Given the description of an element on the screen output the (x, y) to click on. 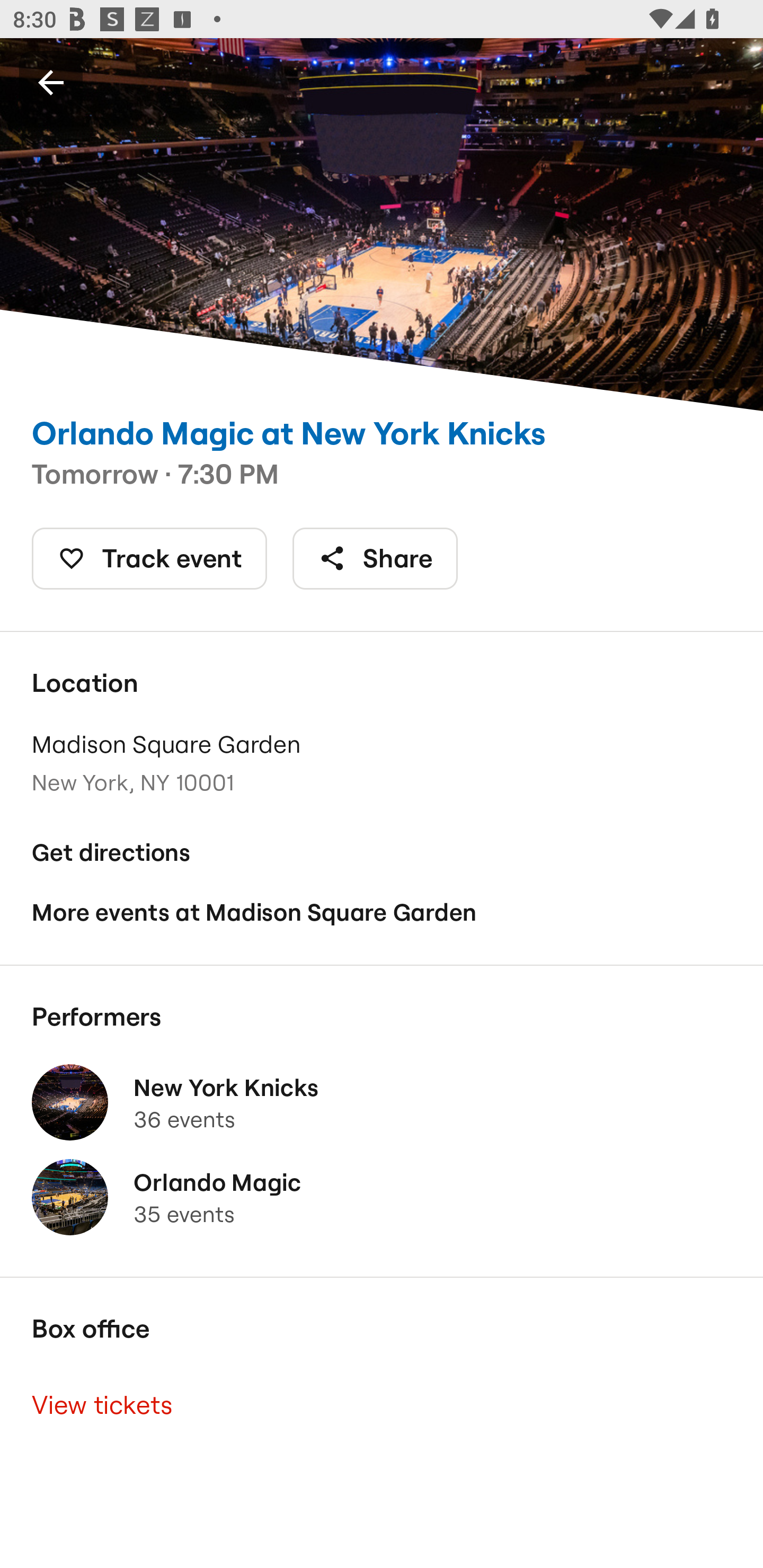
Back (50, 81)
Track event (149, 557)
Share (374, 557)
Get directions (381, 852)
More events at Madison Square Garden (381, 912)
New York Knicks 36 events (381, 1102)
Orlando Magic 35 events (381, 1196)
View tickets (381, 1405)
